Given the description of an element on the screen output the (x, y) to click on. 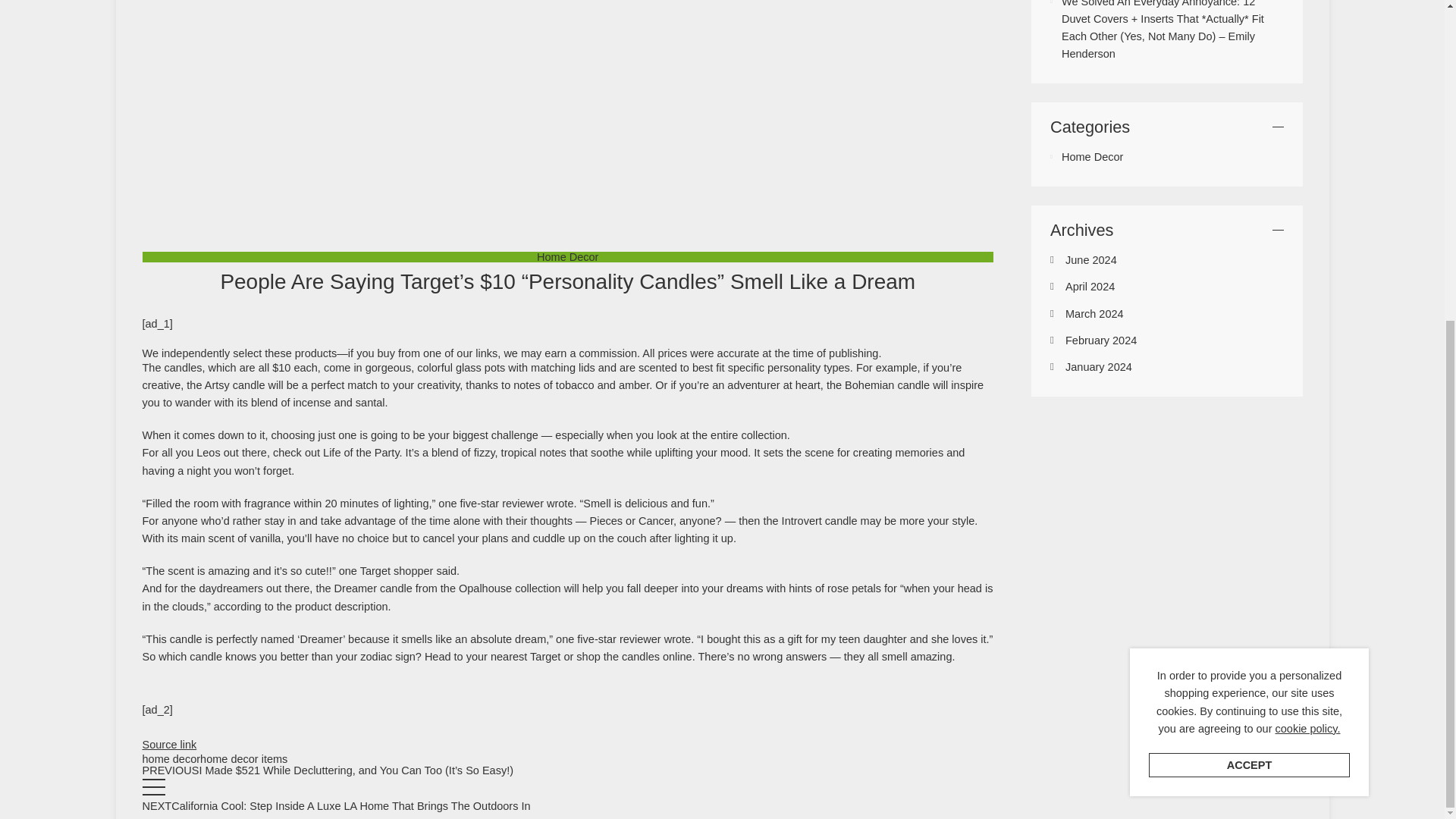
Source link (169, 744)
Home Decor (1091, 156)
home decor items (243, 758)
April 2024 (1090, 286)
Home Decor (567, 256)
Back to Blog (153, 794)
home decor (171, 758)
June 2024 (1090, 259)
